Given the description of an element on the screen output the (x, y) to click on. 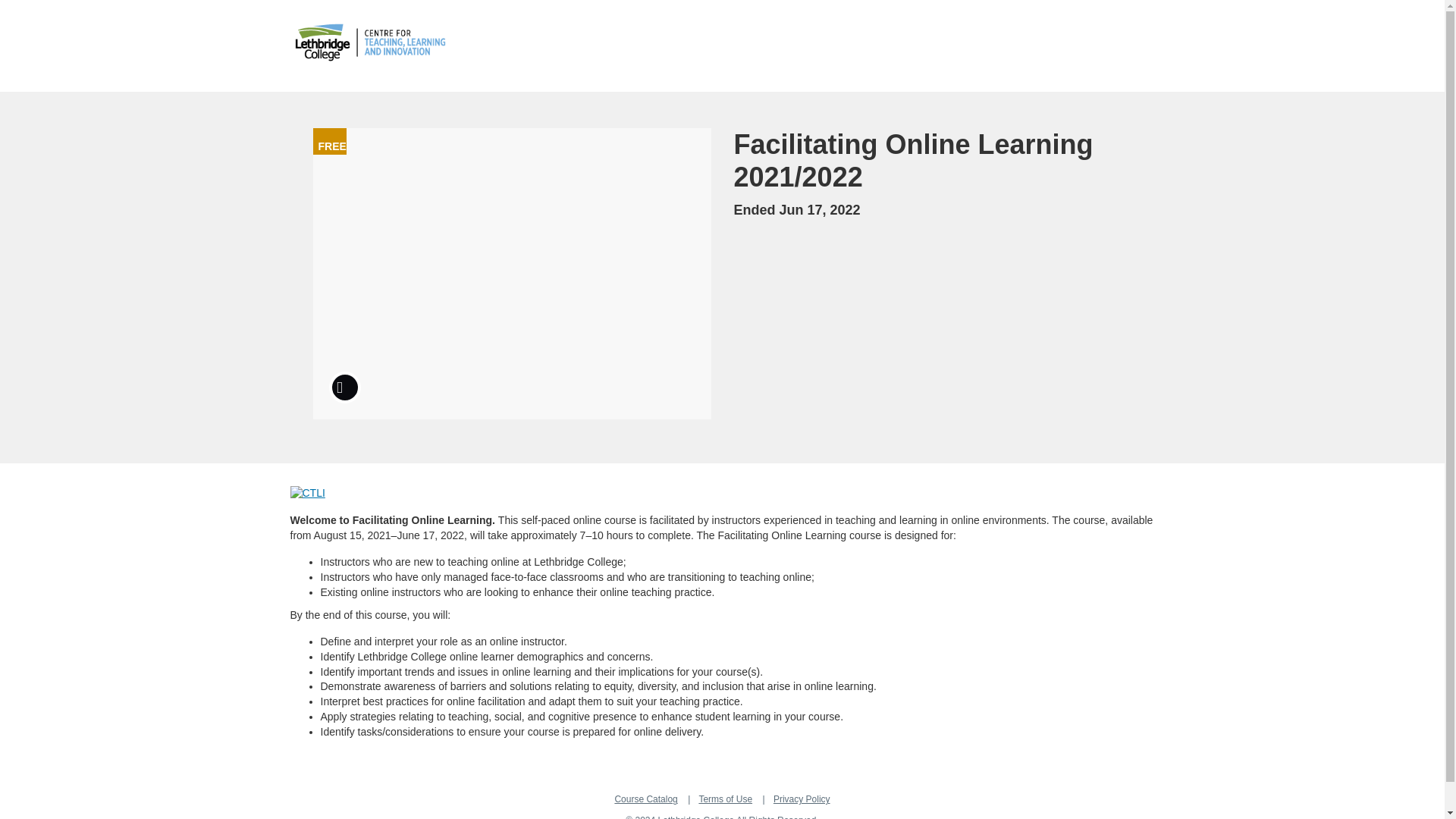
Terms of Use (725, 798)
Course (345, 387)
Course Catalog (645, 798)
Privacy Policy (801, 798)
CTLI (306, 493)
